Given the description of an element on the screen output the (x, y) to click on. 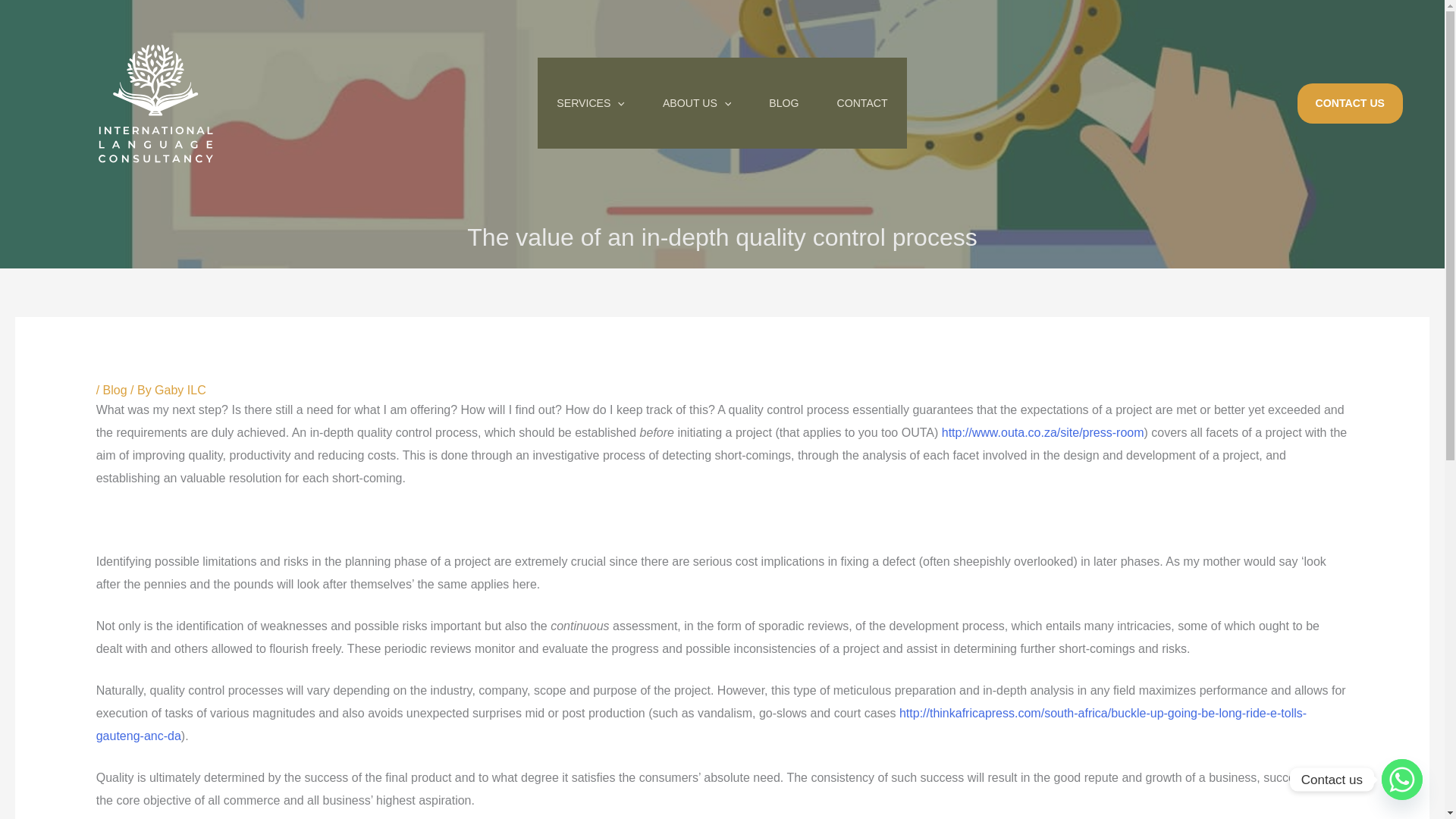
CONTACT US (1350, 102)
SERVICES (590, 102)
ABOUT US (696, 102)
View all posts by Gaby ILC (180, 390)
CONTACT (860, 102)
